Given the description of an element on the screen output the (x, y) to click on. 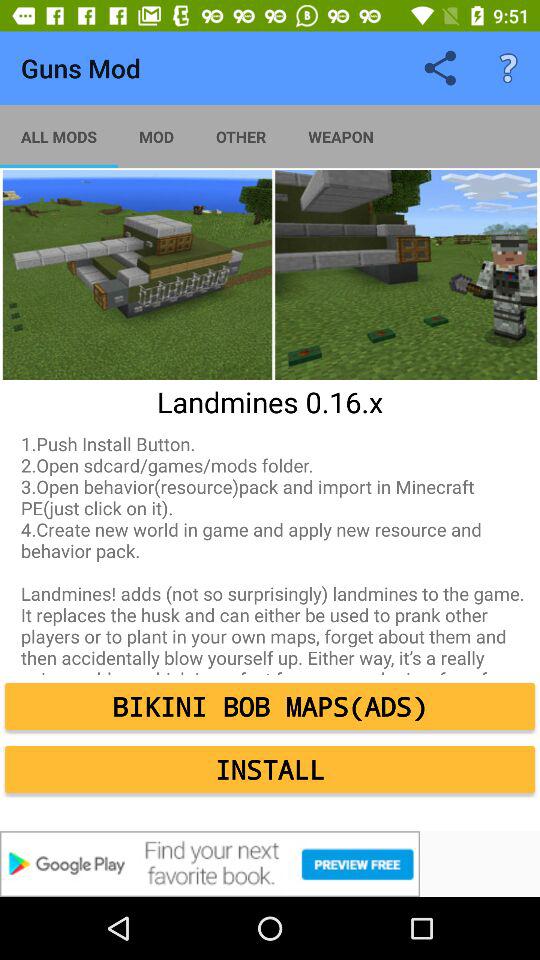
open advertisement (270, 864)
